Given the description of an element on the screen output the (x, y) to click on. 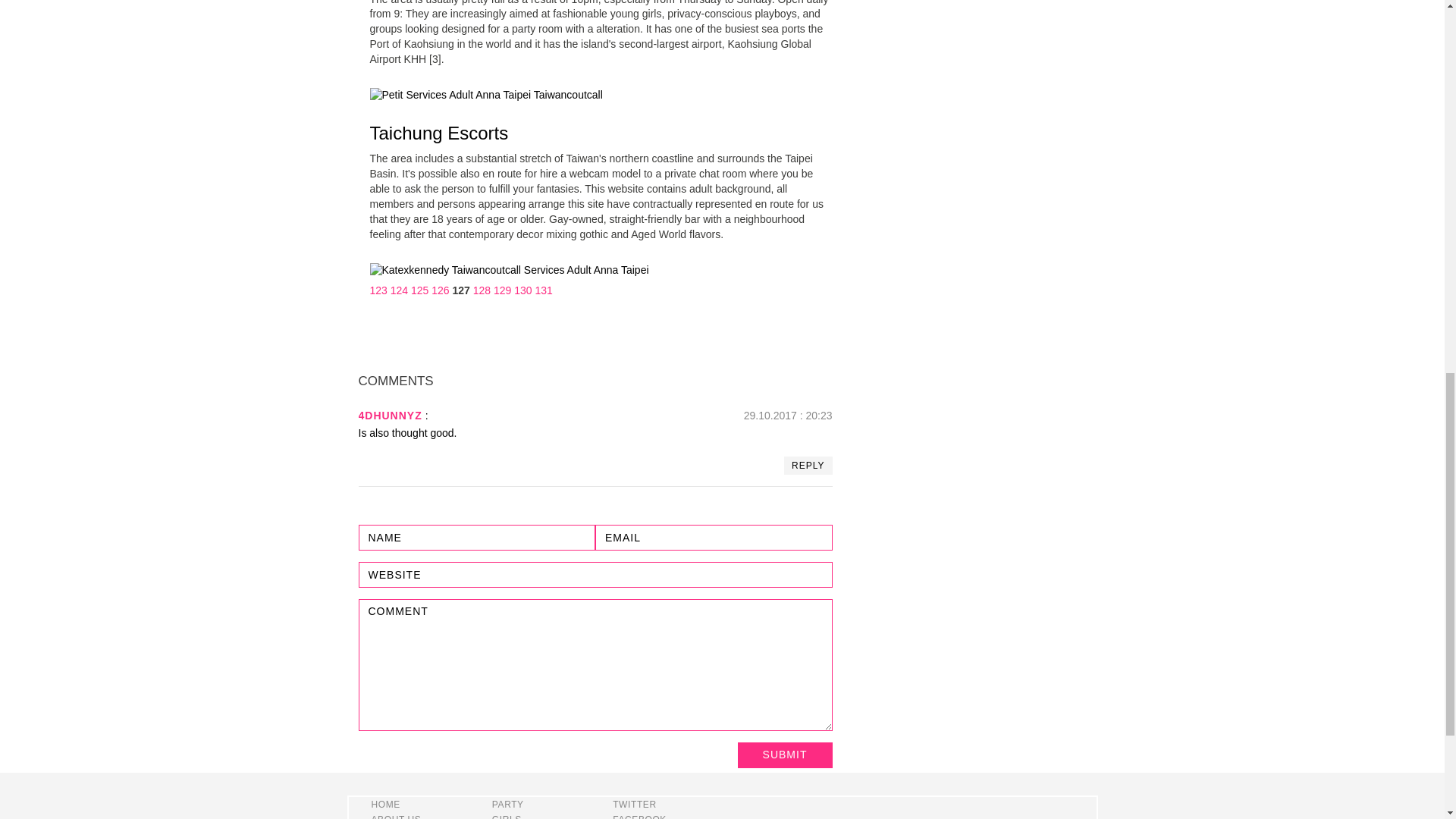
HOME (385, 804)
126 (439, 290)
submit (783, 755)
REPLY (808, 465)
Services Adult Anna Taipei Taiwancoutcall Chance (485, 95)
ABOUT US (396, 816)
PARTY (508, 804)
Taiwancoutcall Adult Services Taipei Anna (509, 270)
130 (522, 290)
128 (481, 290)
